Given the description of an element on the screen output the (x, y) to click on. 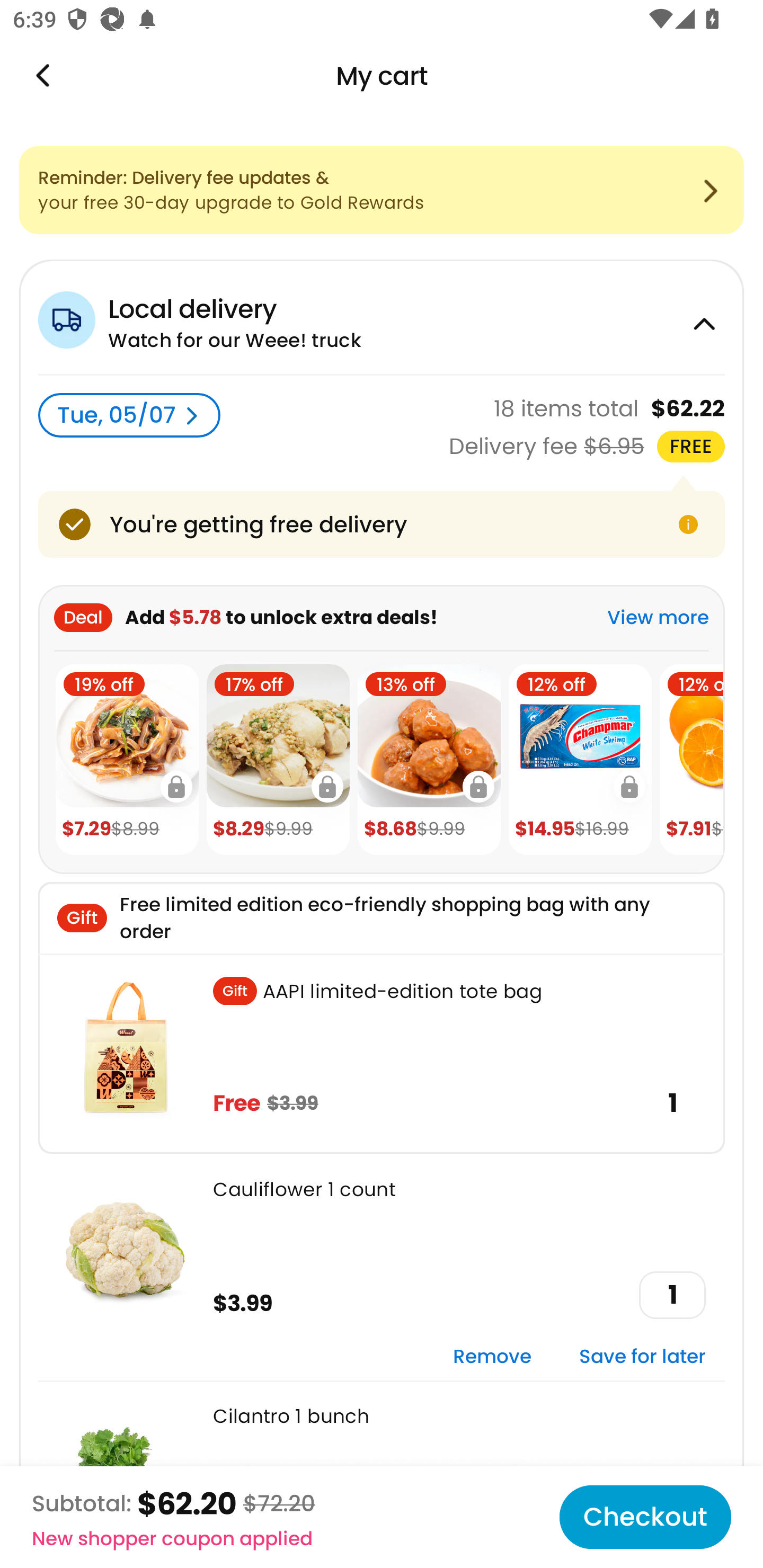
Local delivery Watch for our Weee! truck (381, 317)
Tue, 05/07 (129, 415)
You're getting free delivery (381, 524)
19% off $7.29 $8.99 (126, 759)
17% off $8.29 $9.99 (277, 759)
13% off $8.68 $9.99 (428, 759)
12% off $14.95 $16.99 (579, 759)
. AAPI limited-edition tote bag Free $3.99 1 (381, 1053)
Cauliflower 1 count $3.99 1 Remove Save for later (381, 1266)
1 (672, 1294)
Remove (491, 1356)
Save for later (642, 1356)
Cilantro 1 bunch $1.38 2 Remove Save for later (381, 1473)
Checkout (644, 1516)
